Given the description of an element on the screen output the (x, y) to click on. 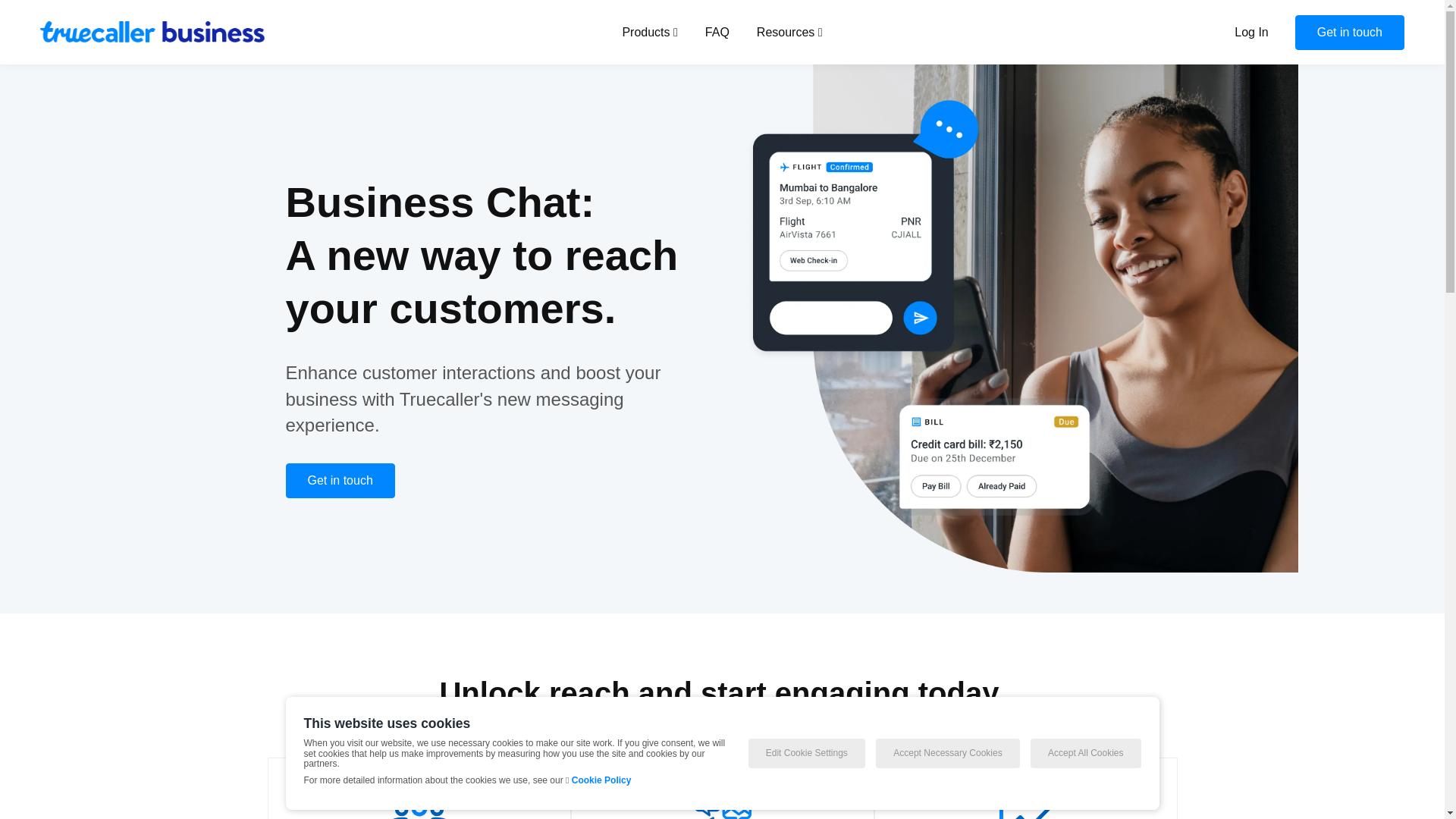
Get in touch (339, 480)
Cookie Policy (601, 779)
Get in touch (339, 480)
Get in touch (1350, 32)
FAQ (716, 31)
Get in touch (1350, 32)
Accept All Cookies (1085, 753)
Accept Necessary Cookies (947, 753)
Resources (788, 31)
Log In (1251, 32)
Products (649, 31)
Edit Cookie Settings (806, 753)
